Given the description of an element on the screen output the (x, y) to click on. 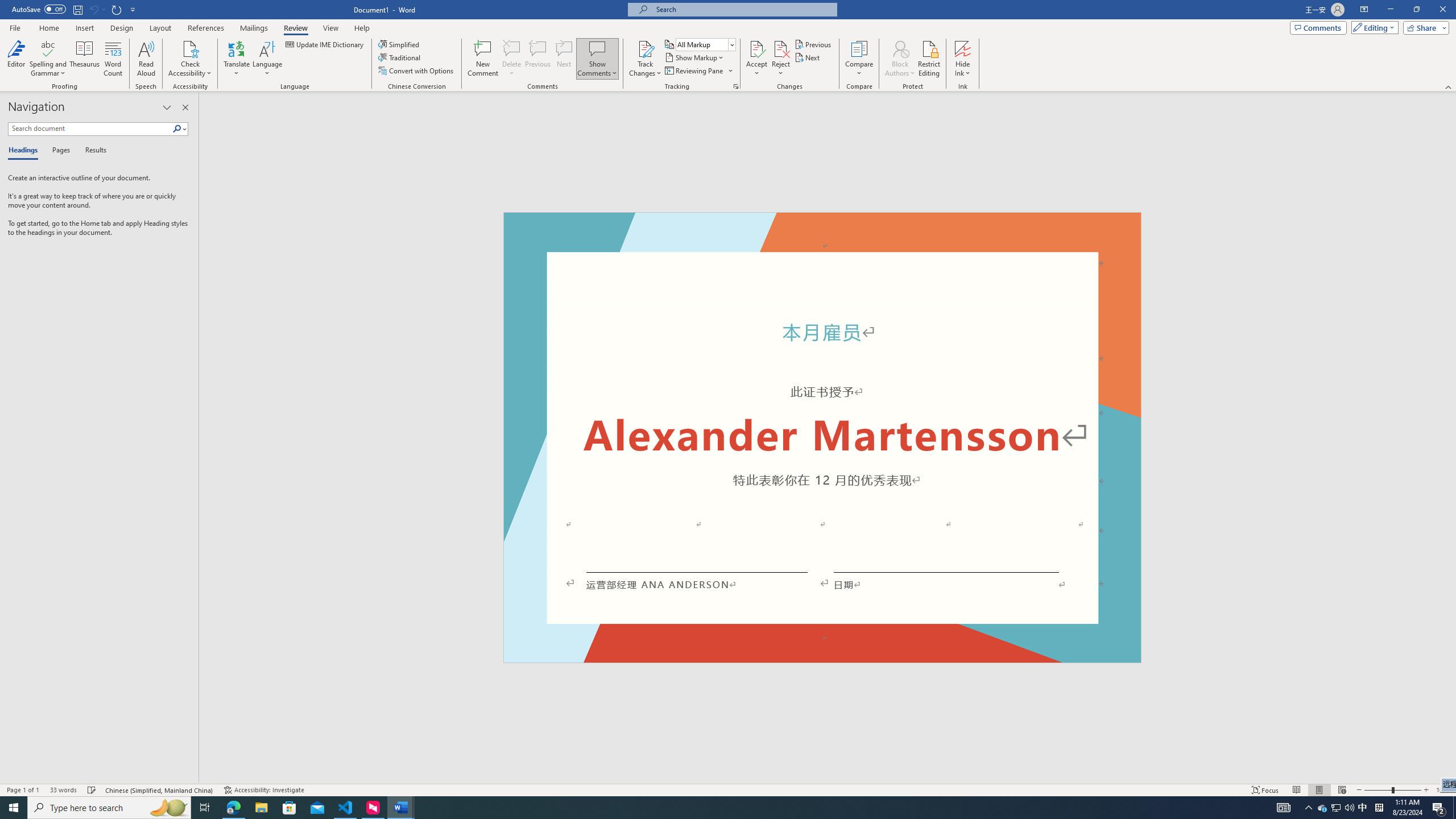
Change Tracking Options... (735, 85)
Focus  (1265, 790)
Mailings (253, 28)
Customize Quick Access Toolbar (133, 9)
Reject (780, 58)
Class: NetUIScrollBar (1450, 437)
Share (1423, 27)
Zoom 100% (1443, 790)
Comments (1318, 27)
Results (91, 150)
Update IME Dictionary... (324, 44)
Reviewing Pane (698, 69)
Hide Ink (962, 58)
Zoom In (1426, 790)
Close (1442, 9)
